Given the description of an element on the screen output the (x, y) to click on. 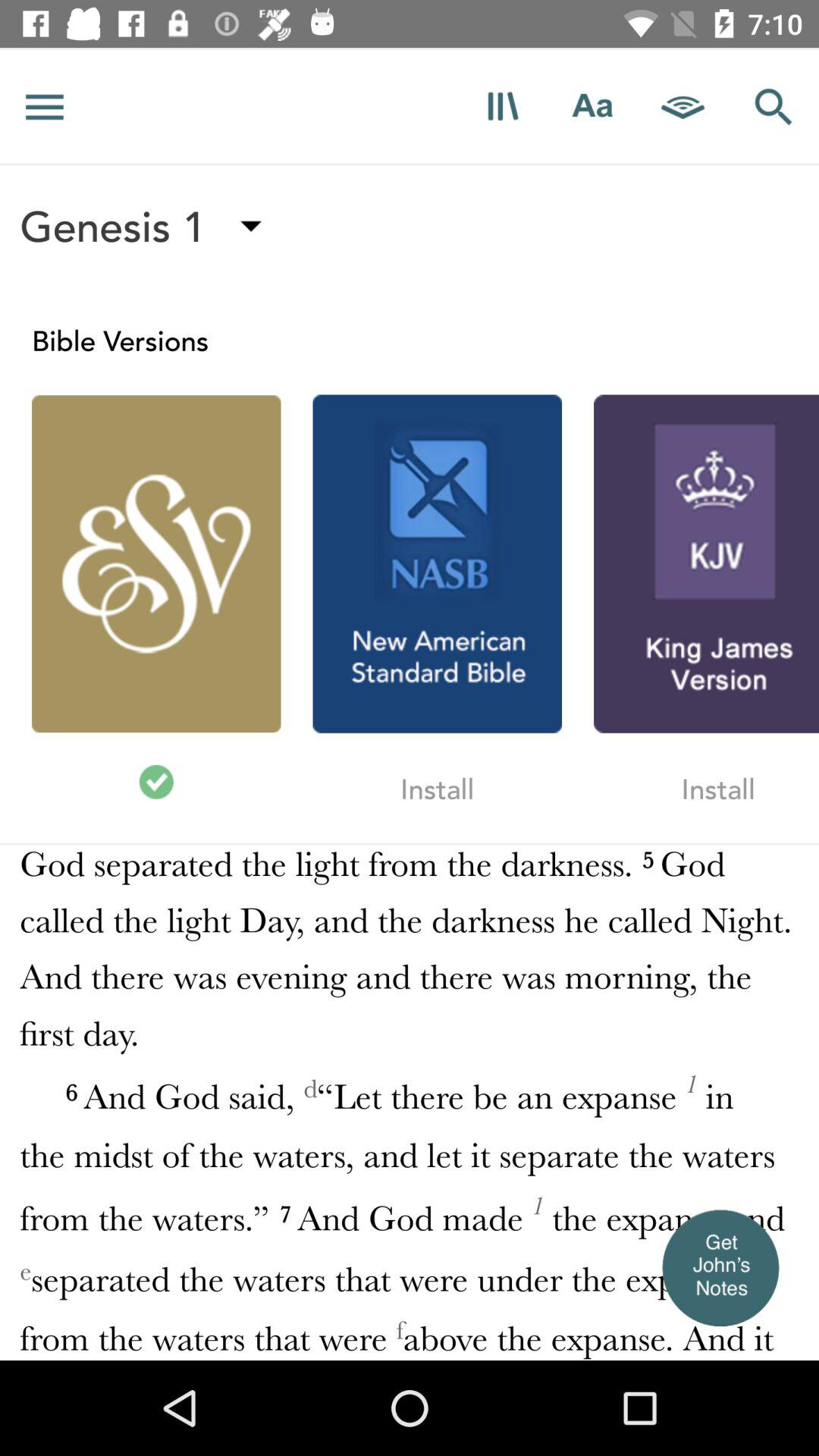
letters (592, 106)
